Given the description of an element on the screen output the (x, y) to click on. 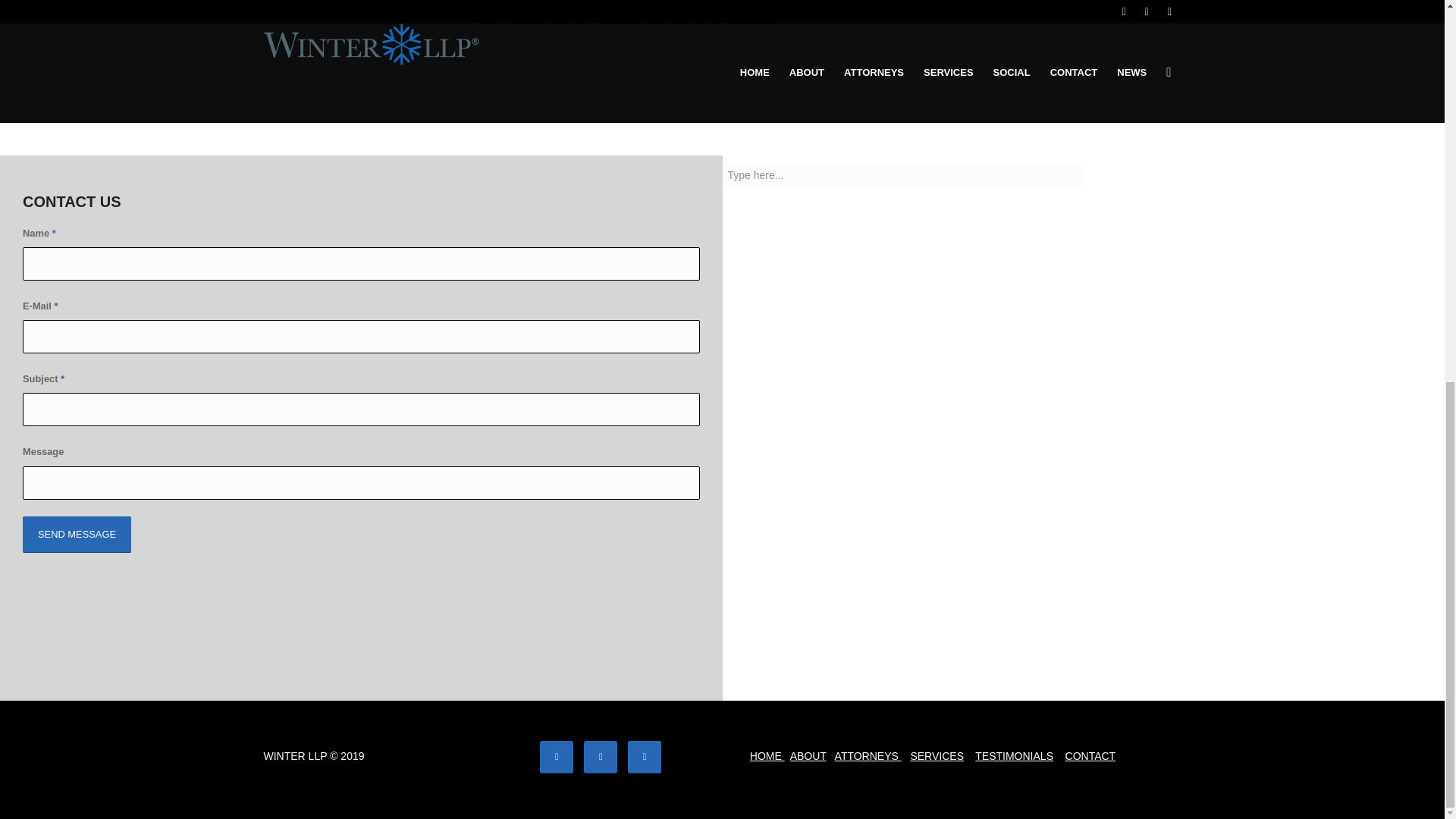
SERVICES (936, 756)
TESTIMONIALS (1013, 756)
ABOUT (808, 756)
SEND MESSAGE (77, 534)
CONTACT (1090, 756)
HOME  (766, 756)
SEND MESSAGE (77, 534)
ATTORNEYS  (867, 756)
